Given the description of an element on the screen output the (x, y) to click on. 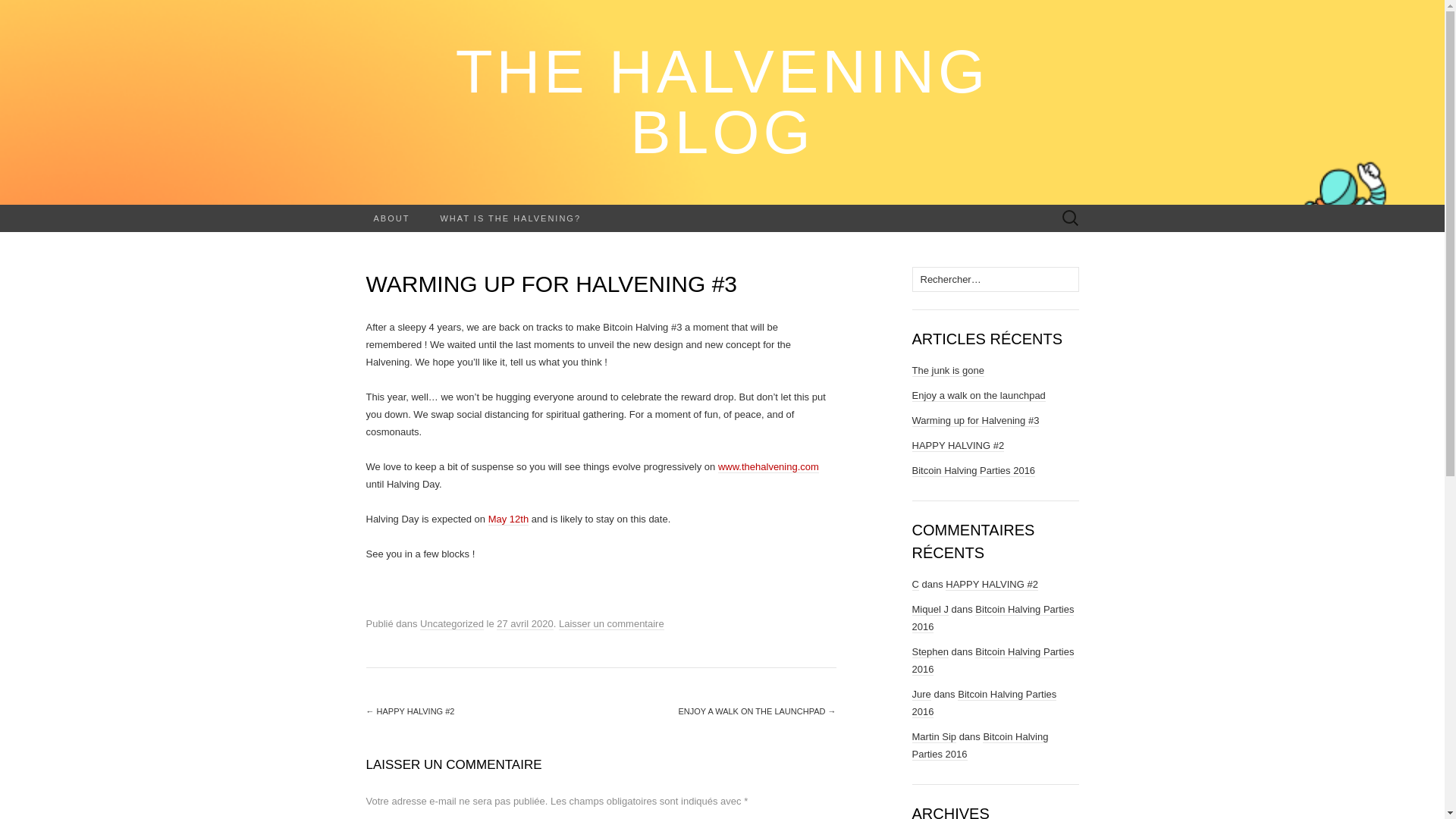
Miquel J (929, 609)
Bitcoin Halving Parties 2016 (979, 745)
11h54 (524, 623)
Stephen (929, 652)
Uncategorized (451, 623)
ABOUT (391, 217)
Jure (920, 694)
Bitcoin Halving Parties 2016 (973, 470)
Bitcoin Halving Parties 2016 (992, 618)
Enjoy a walk on the launchpad (978, 395)
Bitcoin Halving Parties 2016 (984, 703)
WHAT IS THE HALVENING? (510, 217)
27 avril 2020 (524, 623)
Rechercher (54, 12)
The junk is gone (947, 370)
